Given the description of an element on the screen output the (x, y) to click on. 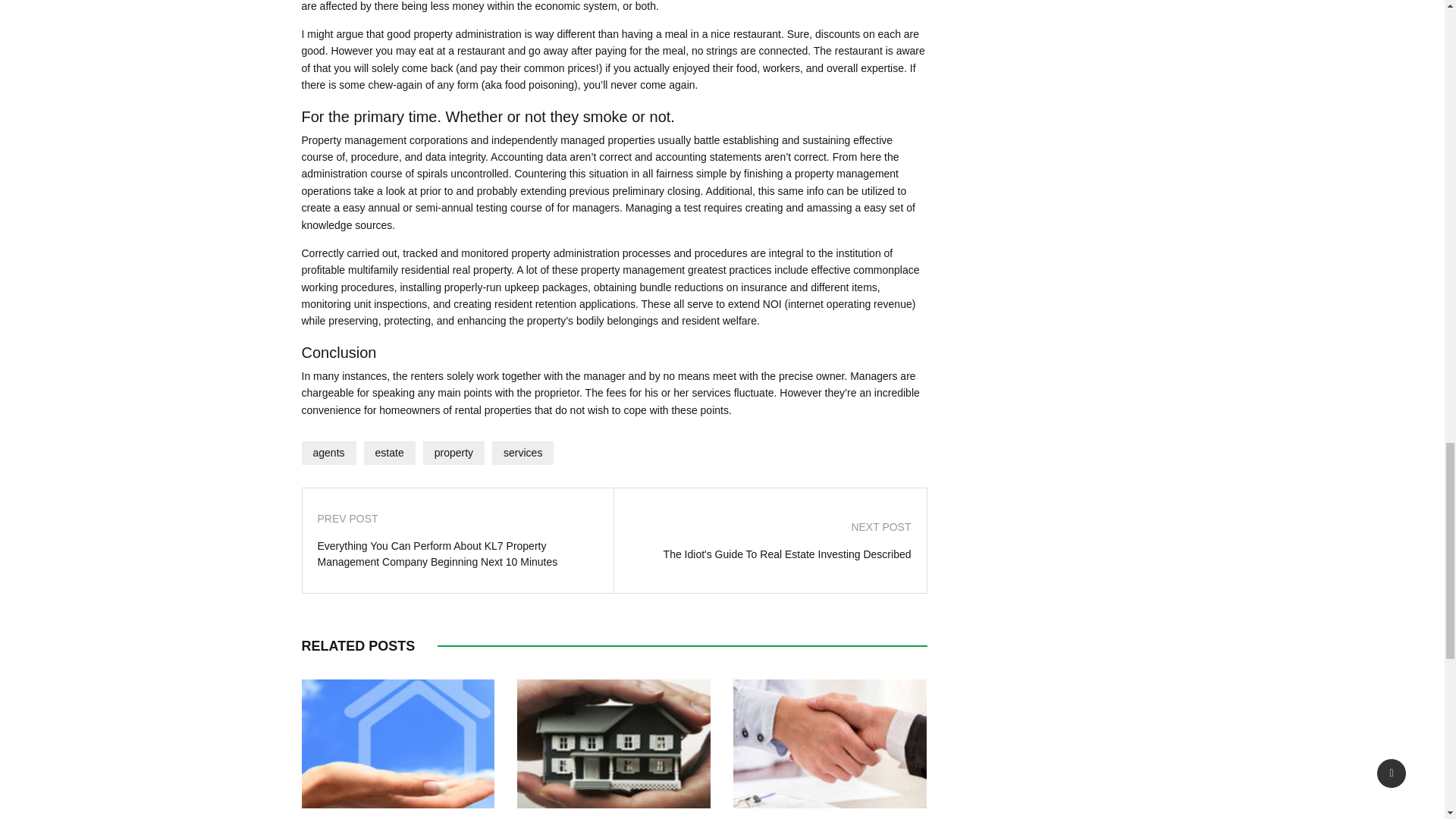
agents (328, 453)
services (522, 453)
property (453, 453)
estate (389, 453)
The Idiot's Guide To Real Estate Investing Described (769, 554)
